Given the description of an element on the screen output the (x, y) to click on. 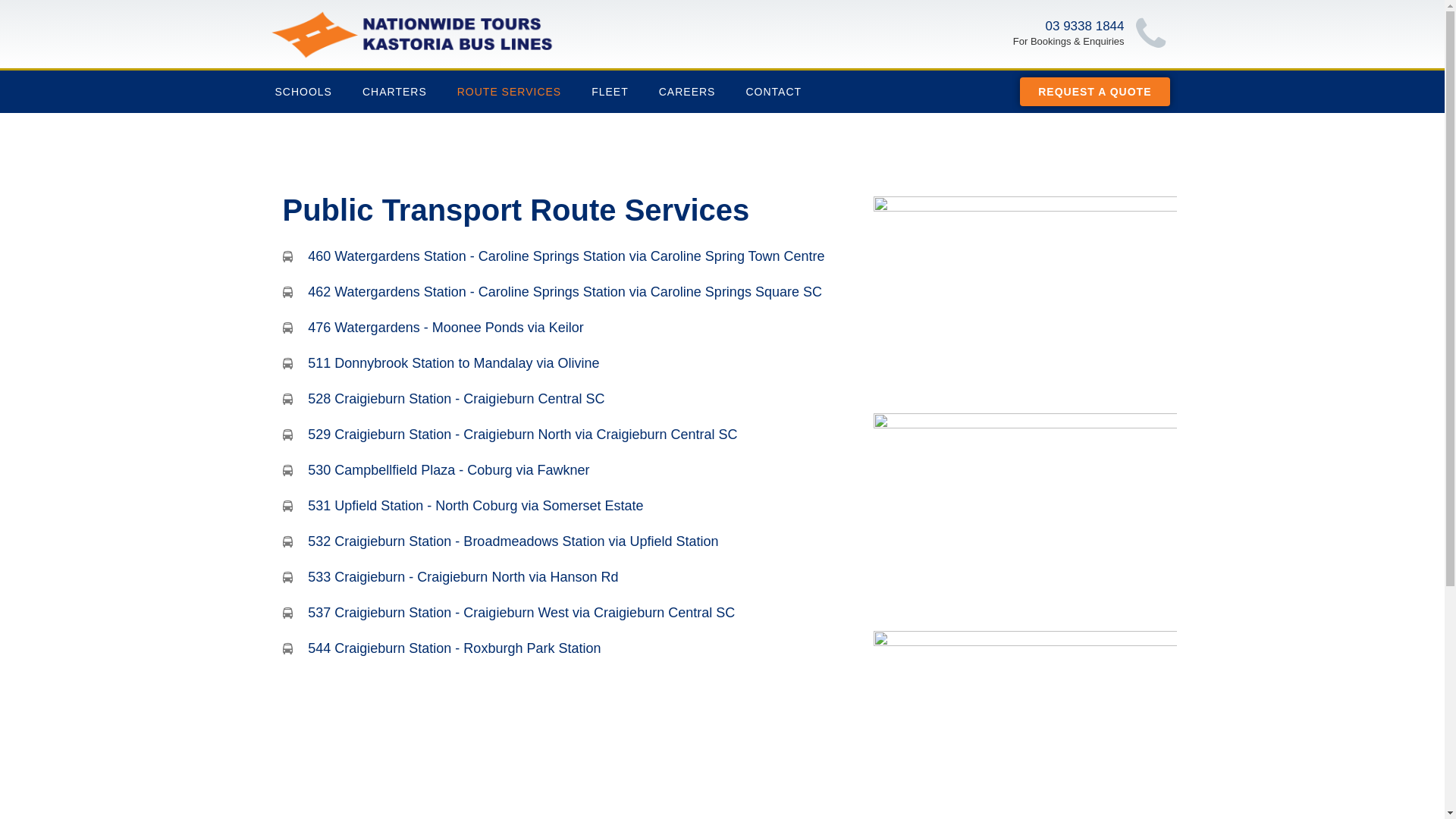
FLEET Element type: text (609, 91)
531 Upfield Station - North Coburg via Somerset Estate Element type: text (570, 505)
SCHOOLS Element type: text (302, 91)
CAREERS Element type: text (687, 91)
528 Craigieburn Station - Craigieburn Central SC Element type: text (570, 399)
476 Watergardens - Moonee Ponds via Keilor Element type: text (570, 327)
533 Craigieburn - Craigieburn North via Hanson Rd Element type: text (570, 577)
ROUTE SERVICES Element type: text (509, 91)
530 Campbellfield Plaza - Coburg via Fawkner Element type: text (570, 470)
511 Donnybrook Station to Mandalay via Olivine Element type: text (570, 363)
544 Craigieburn Station - Roxburgh Park Station Element type: text (570, 648)
CHARTERS Element type: text (394, 91)
REQUEST A QUOTE Element type: text (1094, 91)
CONTACT Element type: text (773, 91)
